Given the description of an element on the screen output the (x, y) to click on. 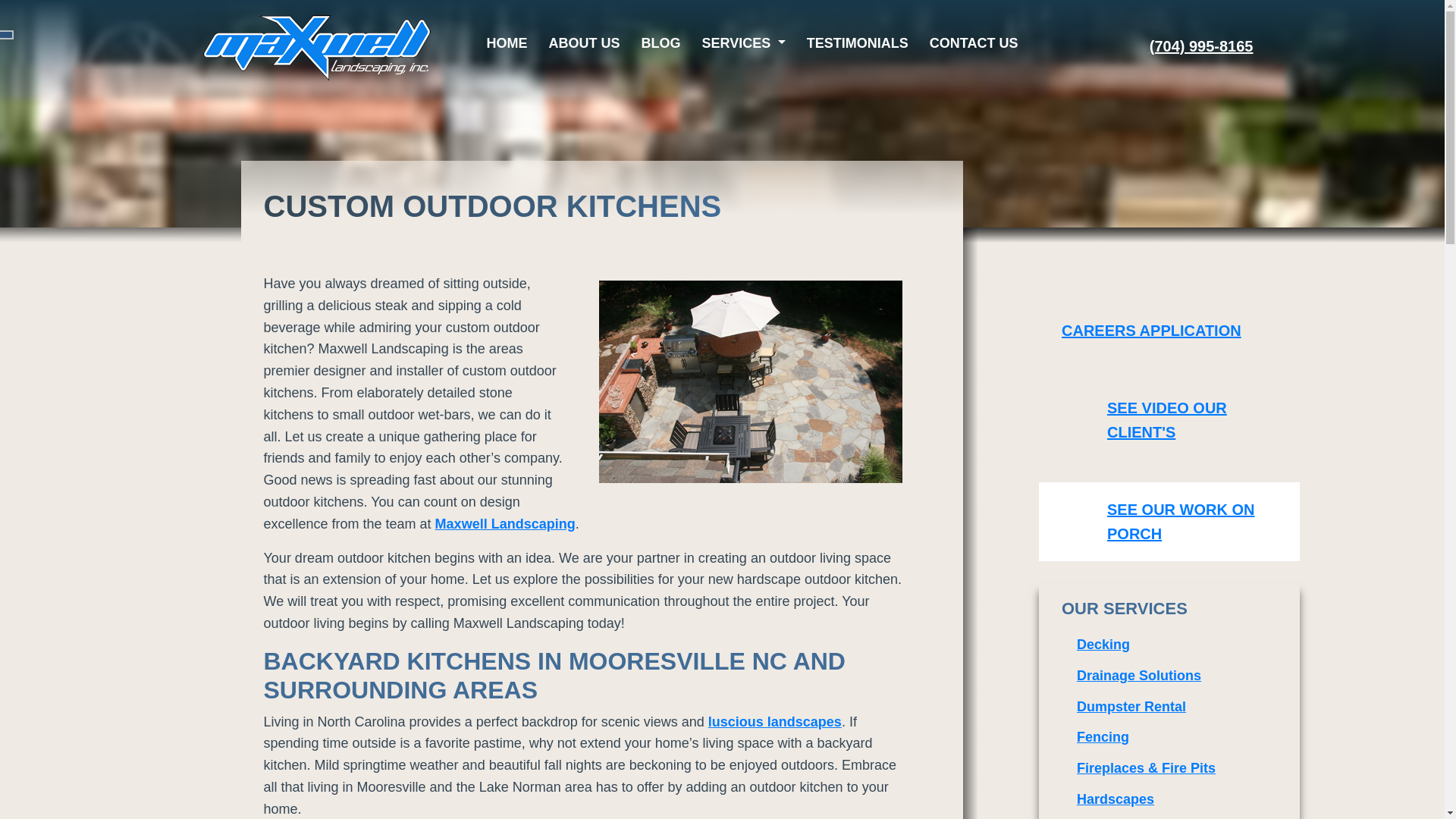
SEE OUR WORK ON PORCH (1169, 521)
CONTACT US (973, 43)
Drainage Solutions (1168, 675)
HOME (507, 43)
Decking (1168, 644)
Dumpster Rental (1168, 706)
Huntersville NC Landscape Designs (774, 721)
Hardscapes (1168, 798)
Switch to High color contrast version of the website (6, 34)
SKIP NAVIGATION (1055, 309)
luscious landscapes (774, 721)
Maxwell Landscaping (505, 523)
SERVICES (743, 43)
CAREERS APPLICATION (1169, 330)
BLOG (660, 43)
